Given the description of an element on the screen output the (x, y) to click on. 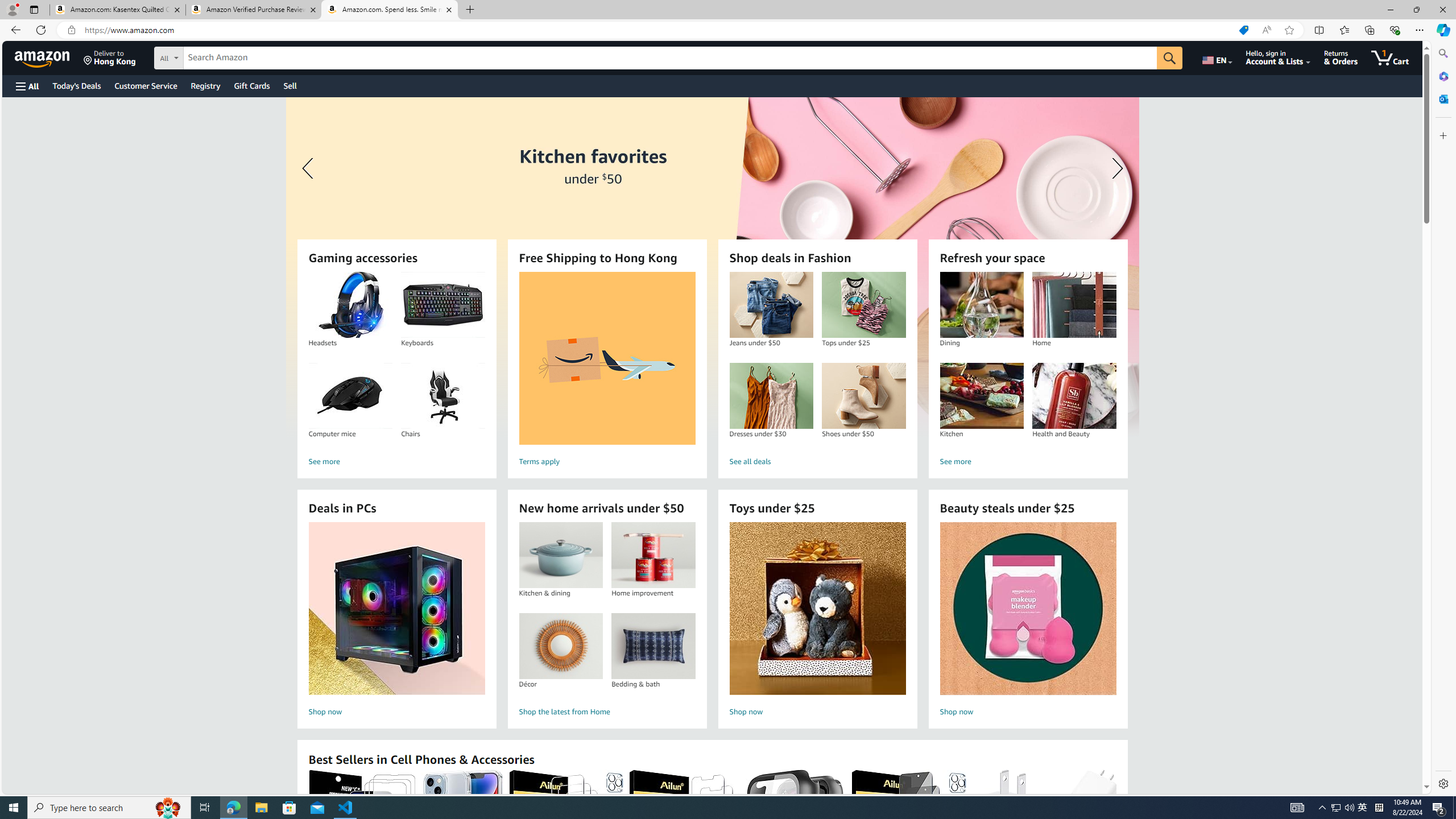
Free Shipping to Hong Kong Terms apply (606, 370)
Sell (290, 85)
Home improvement (652, 555)
Chairs (442, 395)
Toys under $25 (818, 608)
Keyboards (442, 304)
Kitchen & dining (560, 555)
Bedding & bath (652, 645)
Bedding & bath (653, 645)
Gift Cards (251, 85)
Amazon (43, 57)
